Given the description of an element on the screen output the (x, y) to click on. 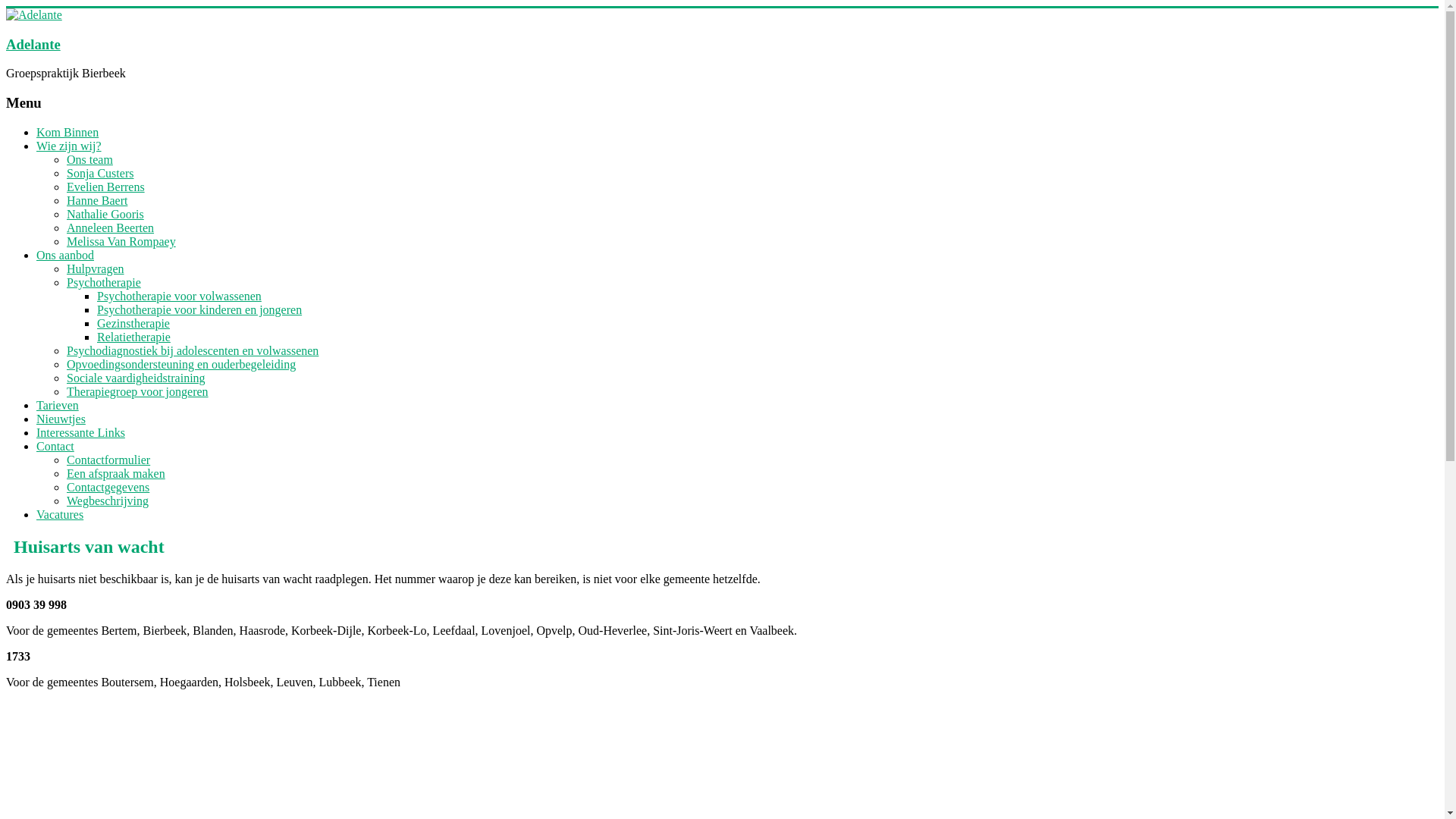
Psychotherapie voor kinderen en jongeren Element type: text (199, 309)
Hanne Baert Element type: text (96, 200)
Adelante Element type: text (33, 44)
Relatietherapie Element type: text (133, 336)
Contactgegevens Element type: text (107, 486)
Interessante Links Element type: text (80, 432)
Therapiegroep voor jongeren Element type: text (137, 391)
Contact Element type: text (55, 445)
Wegbeschrijving Element type: text (107, 500)
Melissa Van Rompaey Element type: text (120, 241)
Nathalie Gooris Element type: text (105, 213)
Ons team Element type: text (89, 159)
Een afspraak maken Element type: text (115, 473)
Evelien Berrens Element type: text (105, 186)
Hulpvragen Element type: text (95, 268)
Sonja Custers Element type: text (99, 172)
Anneleen Beerten Element type: text (109, 227)
Psychotherapie voor volwassenen Element type: text (179, 295)
Psychodiagnostiek bij adolescenten en volwassenen Element type: text (192, 350)
Sociale vaardigheidstraining Element type: text (135, 377)
Tarieven Element type: text (57, 404)
Wie zijn wij? Element type: text (68, 145)
Contactformulier Element type: text (108, 459)
Ons aanbod Element type: text (65, 254)
Psychotherapie Element type: text (103, 282)
Opvoedingsondersteuning en ouderbegeleiding Element type: text (180, 363)
Nieuwtjes Element type: text (60, 418)
Gezinstherapie Element type: text (133, 322)
Kom Binnen Element type: text (67, 131)
Vacatures Element type: text (59, 514)
